Given the description of an element on the screen output the (x, y) to click on. 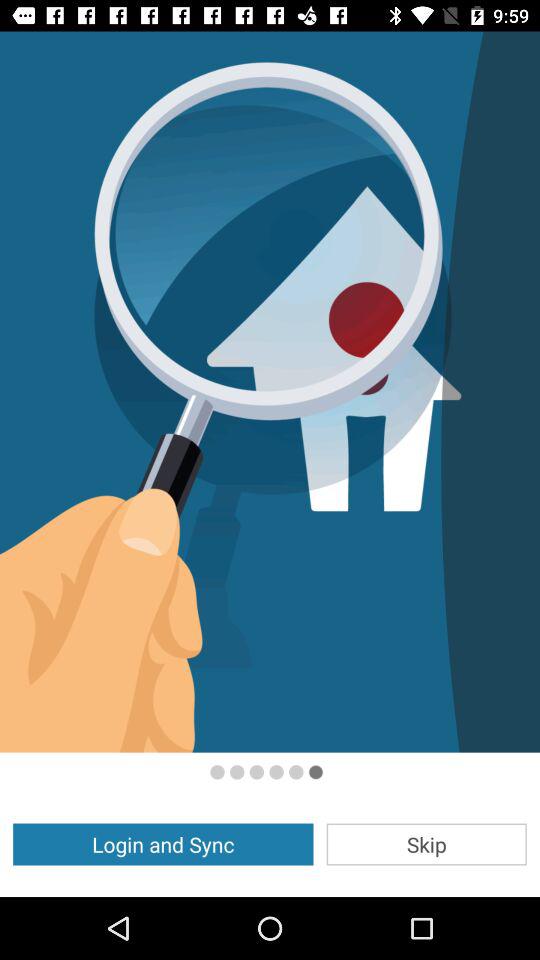
turn on item to the left of the skip icon (163, 844)
